Given the description of an element on the screen output the (x, y) to click on. 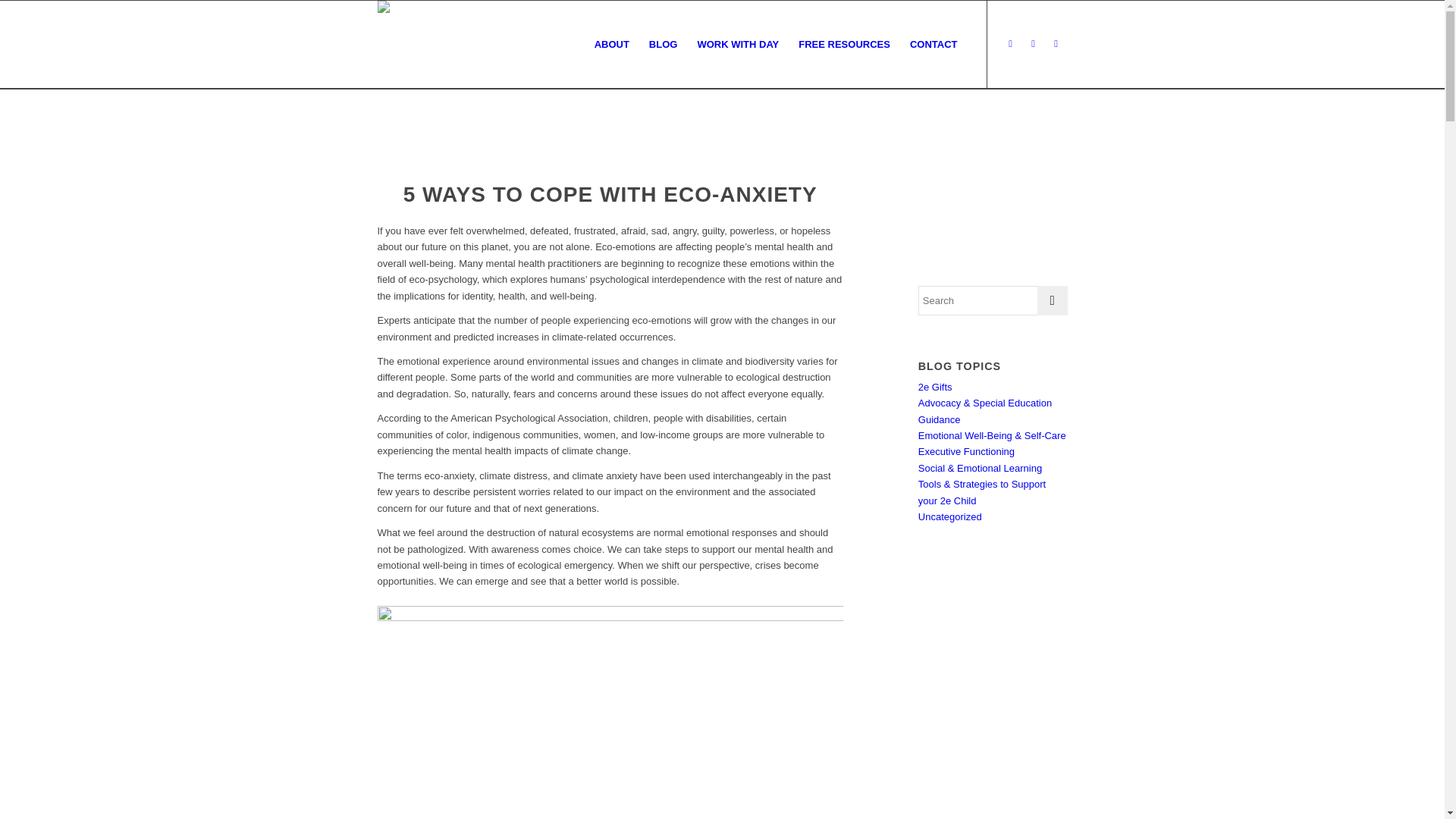
Pinterest Element type: hover (1033, 43)
WORK WITH DAY Element type: text (737, 44)
CONTACT Element type: text (933, 44)
BLOG Element type: text (663, 44)
Uncategorized Element type: text (950, 516)
Facebook Element type: hover (1010, 43)
Advocacy & Special Education Guidance Element type: text (984, 410)
Emotional Well-Being & Self-Care Element type: text (992, 435)
Linkedin Element type: hover (1055, 43)
Social & Emotional Learning Element type: text (979, 467)
2e Gifts Element type: text (935, 386)
Executive Functioning Element type: text (966, 451)
Tools & Strategies to Support your 2e Child Element type: text (981, 491)
FREE RESOURCES Element type: text (844, 44)
ABOUT Element type: text (611, 44)
